Given the description of an element on the screen output the (x, y) to click on. 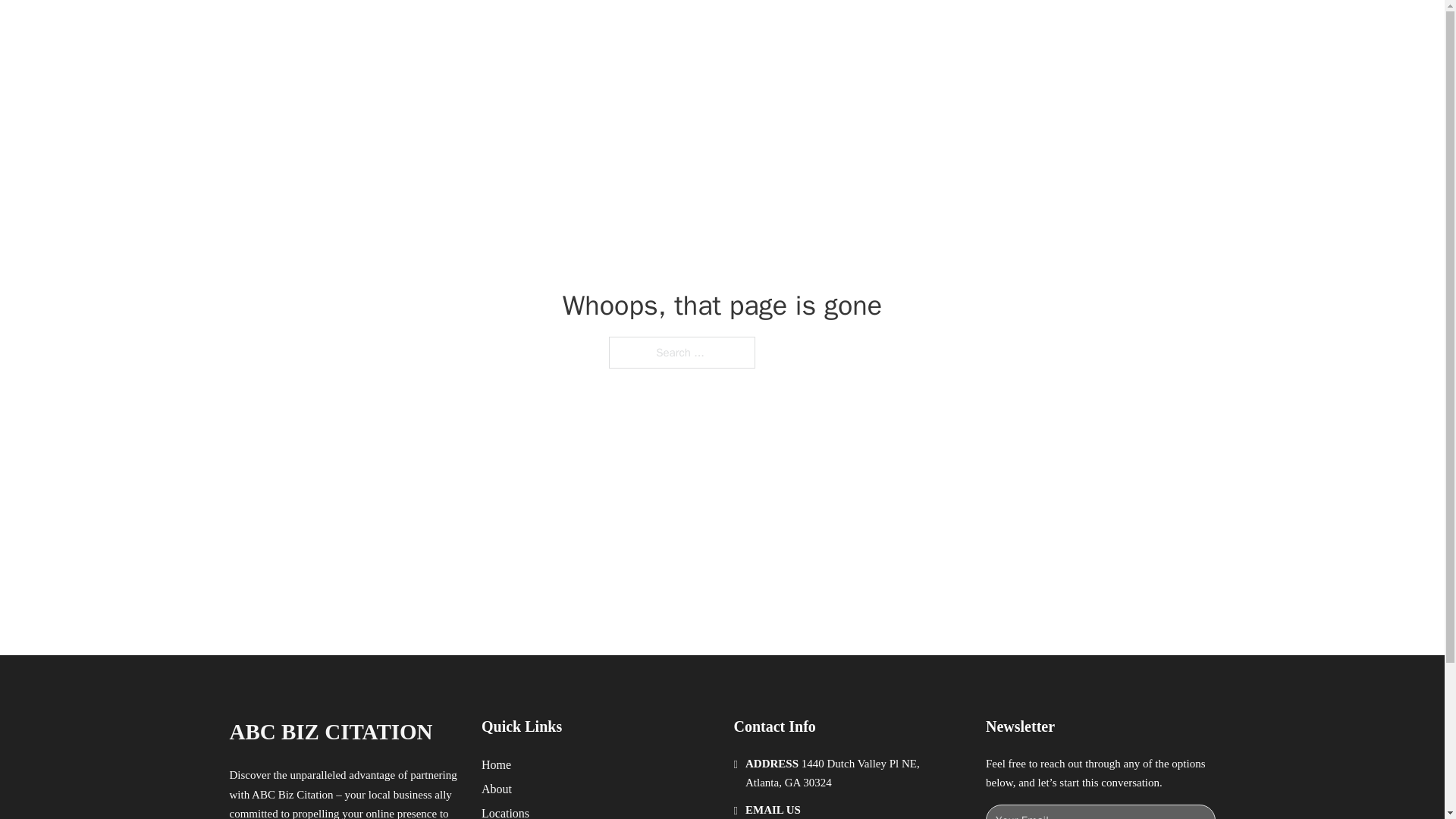
LOCATIONS (990, 29)
HOME (919, 29)
ABC BIZ CITATION (330, 732)
Home (496, 764)
Locations (505, 811)
ABC BIZ CITATION (400, 28)
About (496, 788)
